Given the description of an element on the screen output the (x, y) to click on. 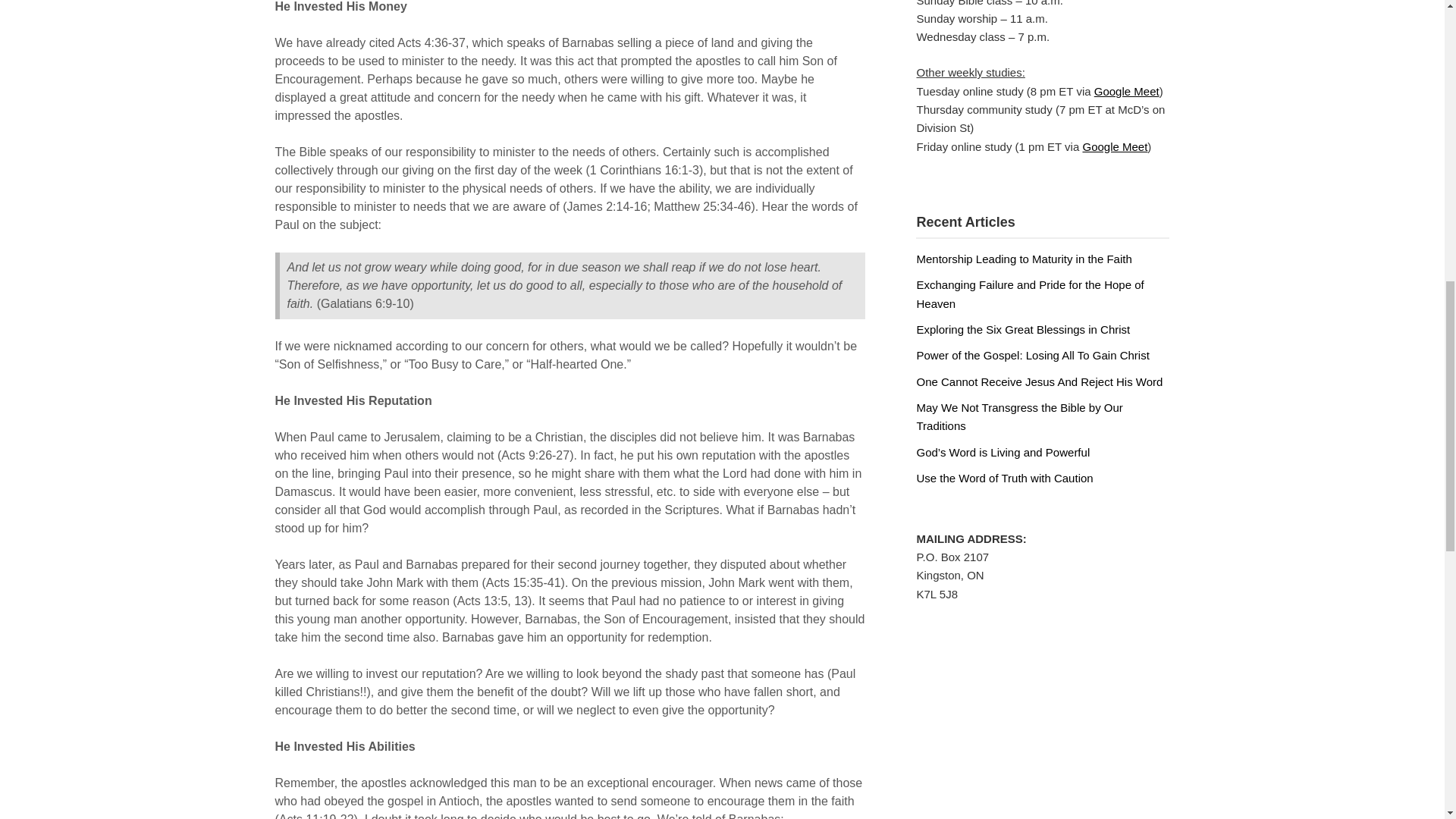
Power of the Gospel: Losing All To Gain Christ (1031, 354)
Exchanging Failure and Pride for the Hope of Heaven (1028, 293)
Google Meet (1114, 146)
One Cannot Receive Jesus And Reject His Word (1038, 381)
Use the Word of Truth with Caution (1004, 477)
Exploring the Six Great Blessings in Christ (1022, 328)
Mentorship Leading to Maturity in the Faith (1023, 258)
Google Meet (1126, 91)
May We Not Transgress the Bible by Our Traditions (1018, 416)
